Given the description of an element on the screen output the (x, y) to click on. 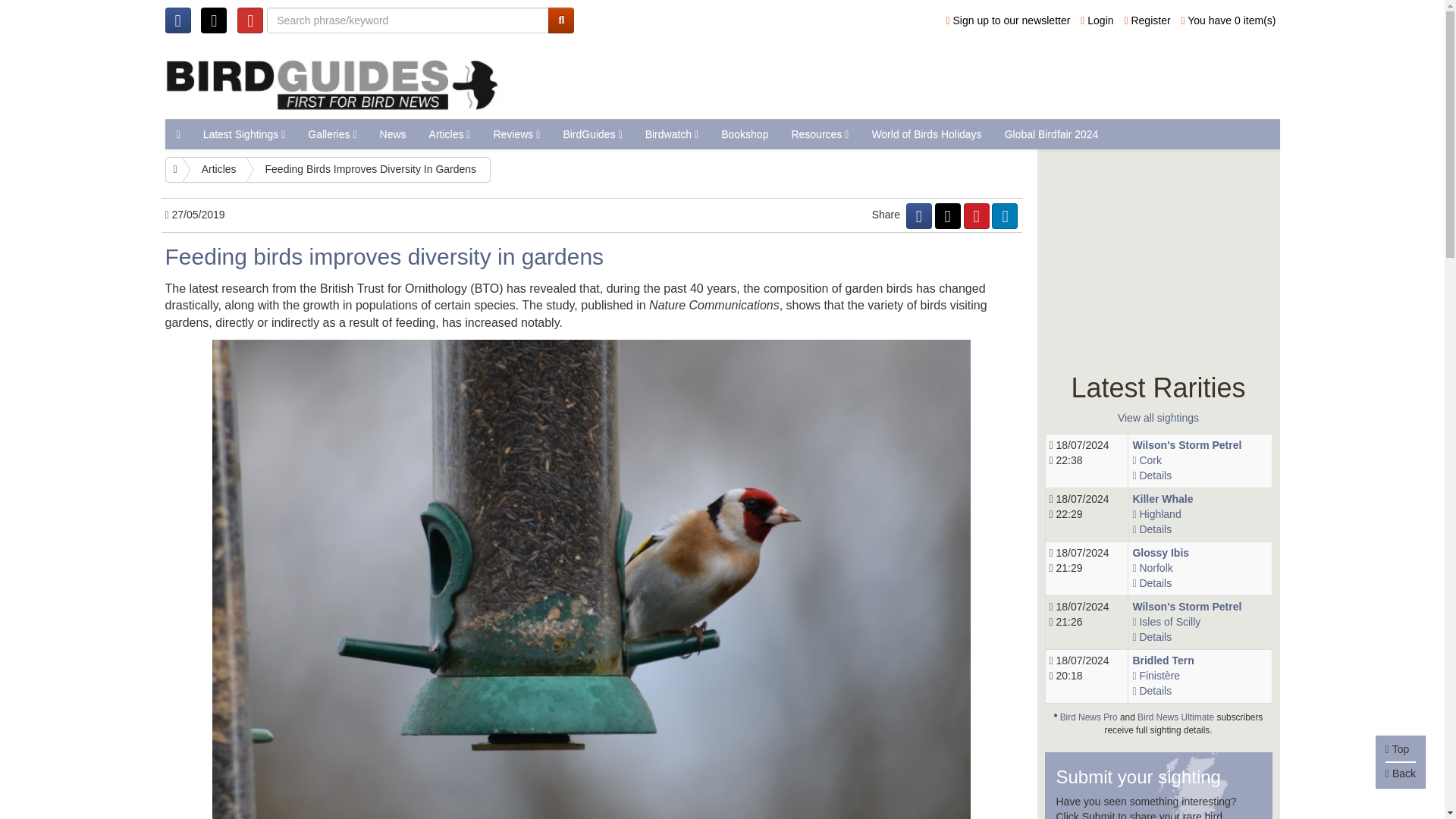
Login (1096, 20)
News (392, 133)
Galleries (332, 133)
Sign up to our newsletter (1008, 20)
Latest Sightings (244, 133)
Articles (449, 133)
3rd party ad content (1158, 255)
Home (174, 169)
3rd party ad content (911, 79)
Register (1147, 20)
